Given the description of an element on the screen output the (x, y) to click on. 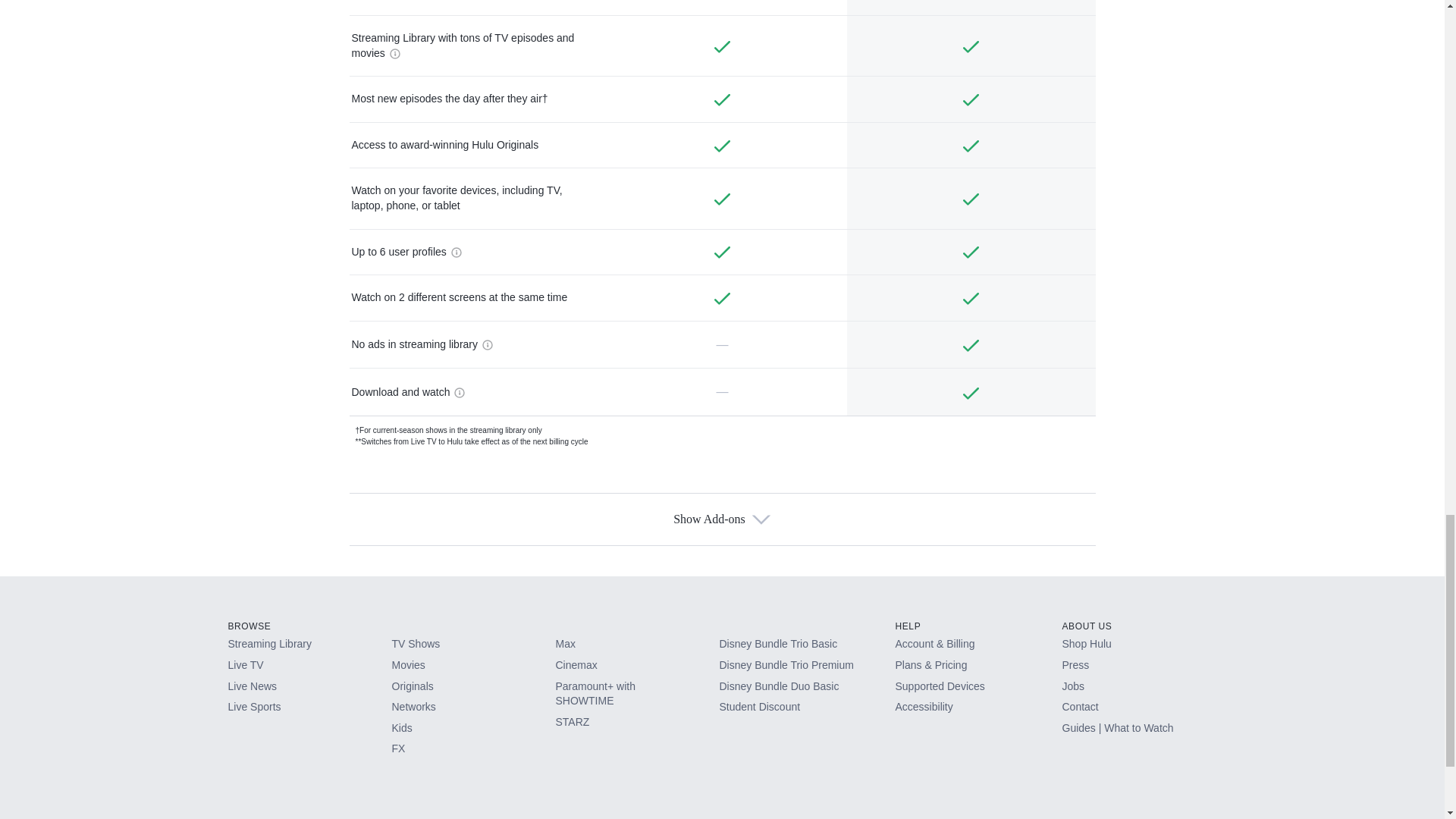
Streaming Library with tons of TV episodes and movies info (392, 51)
Live TV (309, 668)
Up to 6 user profiles info (453, 250)
FX (472, 752)
Networks (472, 710)
Streaming Library (309, 647)
No ads in streaming library info (485, 343)
Kids (472, 731)
Originals (472, 690)
Movies (472, 668)
Live News (309, 690)
Live Sports (309, 710)
Max (636, 647)
Cinemax (636, 668)
TV Shows (472, 647)
